Given the description of an element on the screen output the (x, y) to click on. 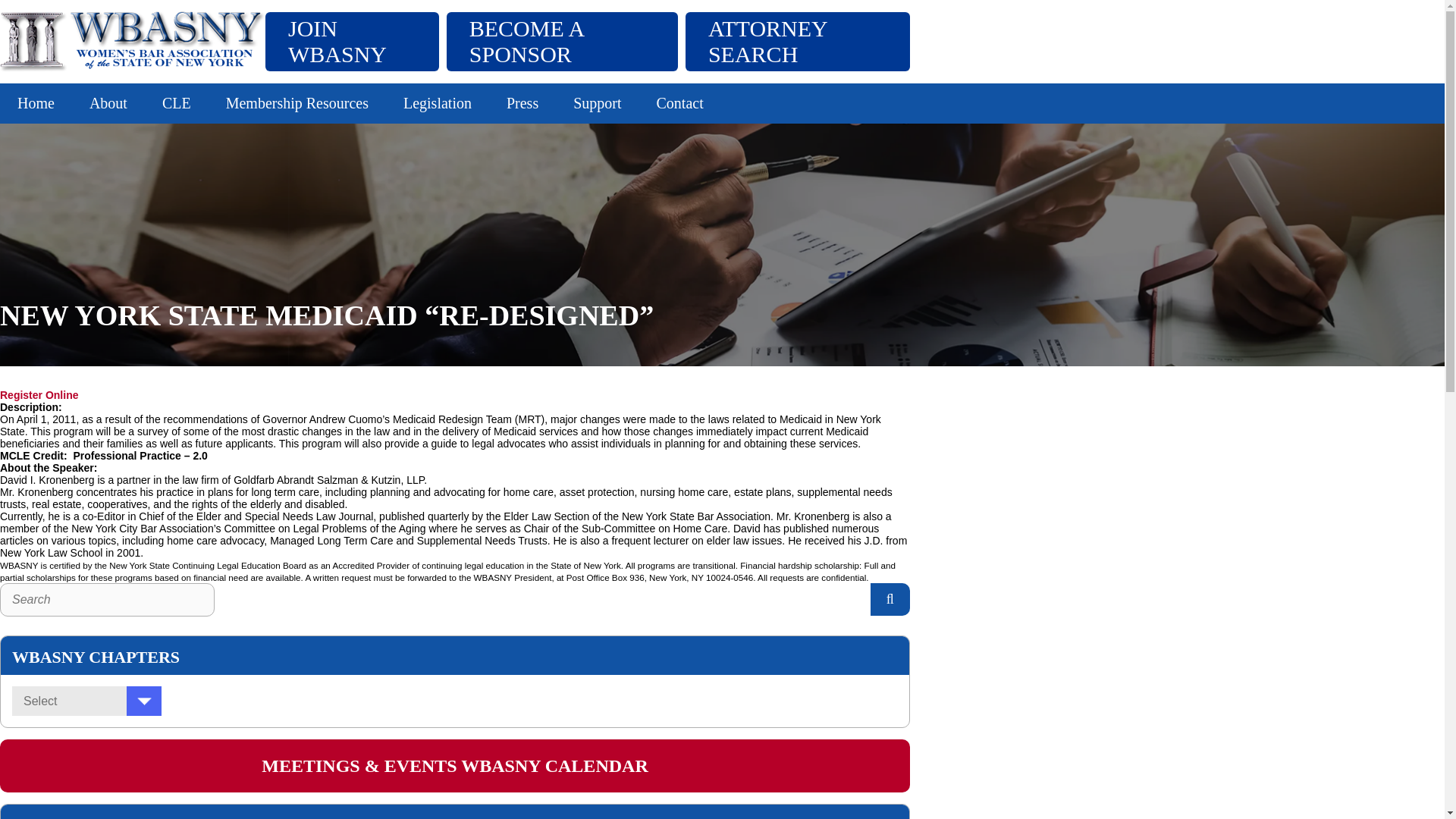
Press (522, 103)
ATTORNEY SEARCH (797, 41)
Membership Resources (296, 103)
About (107, 103)
Support (597, 103)
JOIN WBASNY (351, 41)
Legislation (437, 103)
CLE (176, 103)
Home (35, 103)
BECOME A SPONSOR (562, 41)
